Given the description of an element on the screen output the (x, y) to click on. 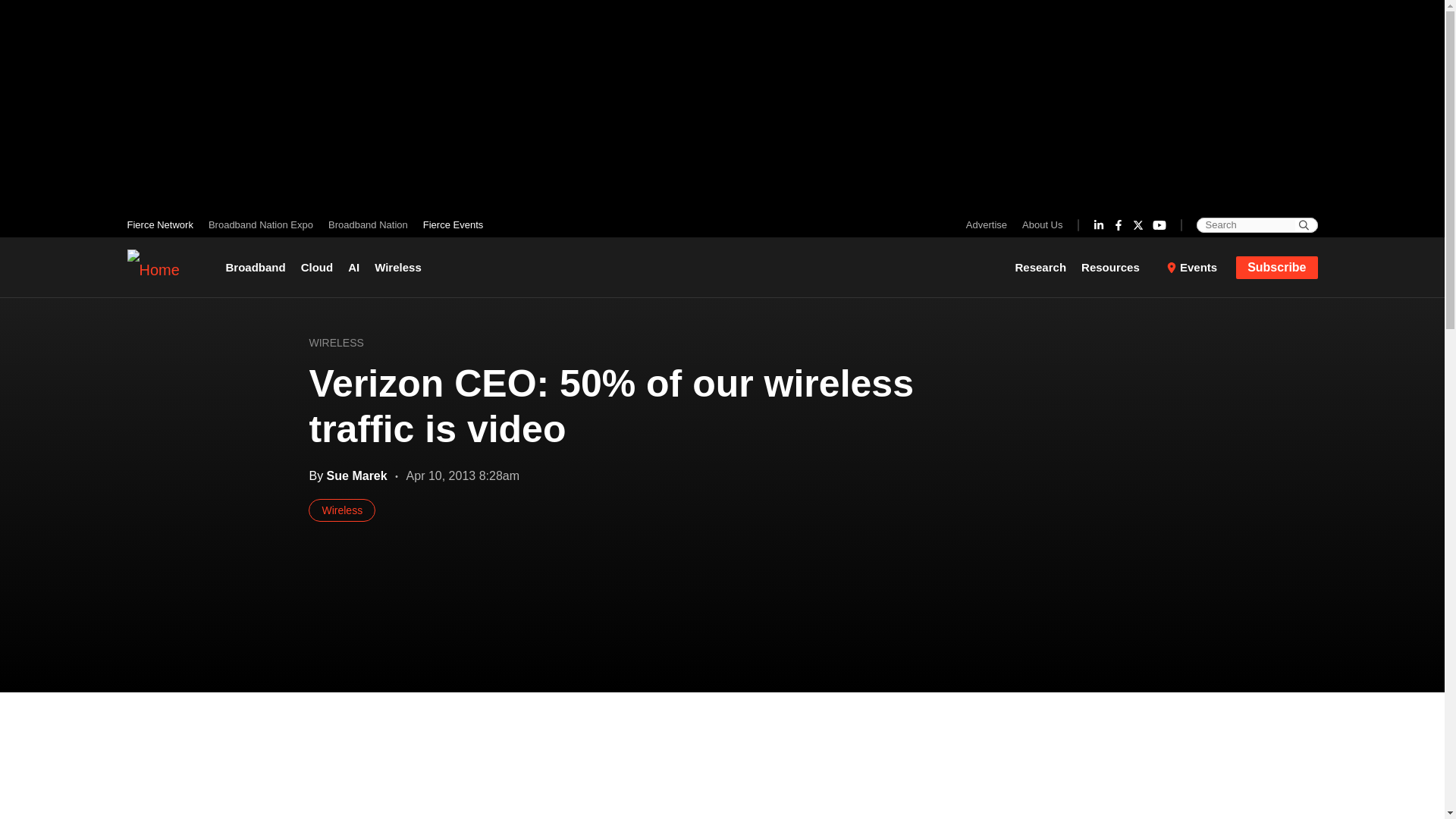
Broadband (259, 266)
Broadband Nation Expo (260, 225)
Advertise (990, 225)
Wireless (397, 266)
Fierce Events (448, 225)
Research (1044, 266)
About Us (1038, 225)
Subscribe (1276, 267)
Broadband Nation (367, 225)
Fierce Network (164, 225)
